Given the description of an element on the screen output the (x, y) to click on. 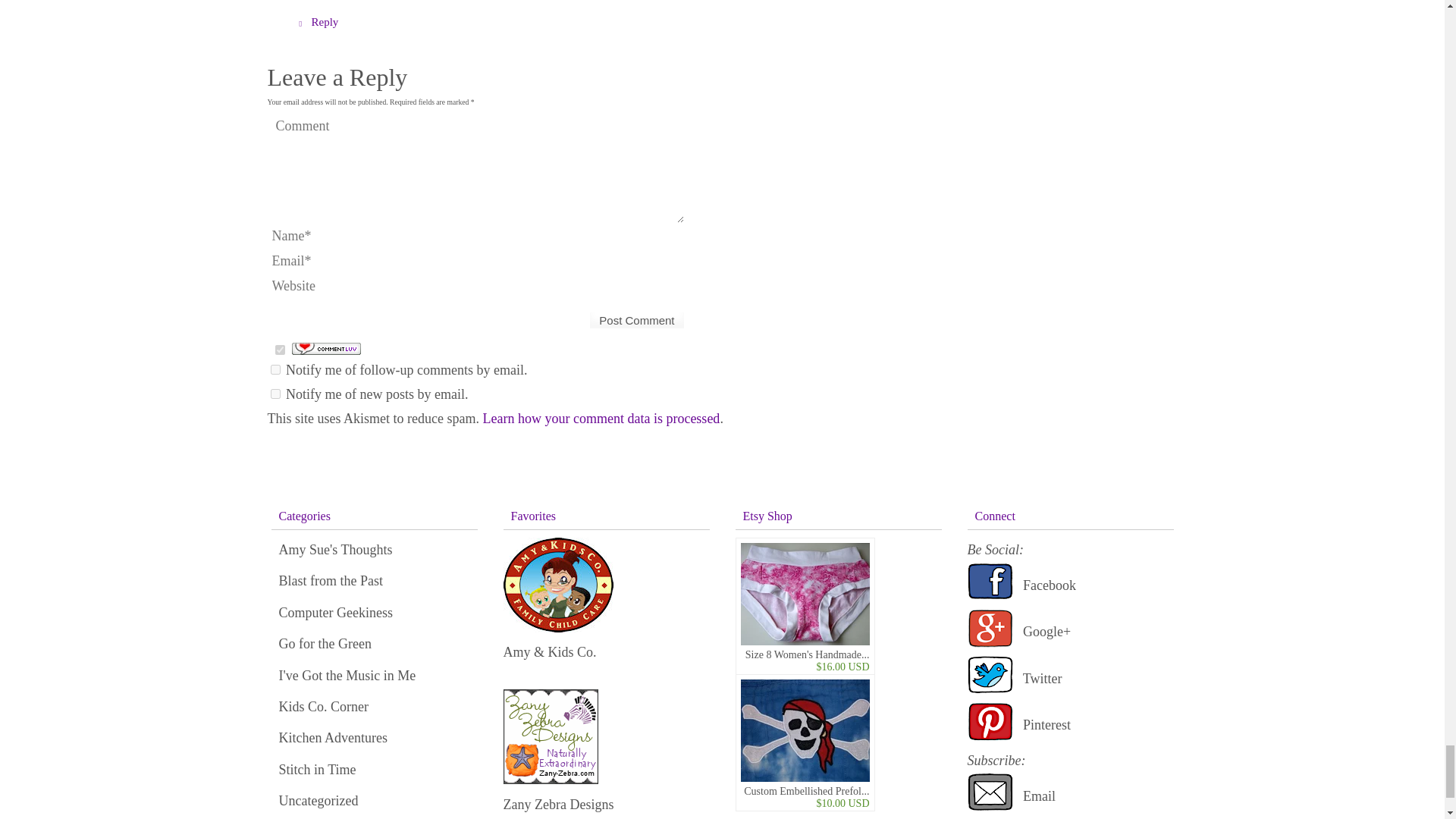
subscribe (274, 393)
subscribe (274, 369)
on (278, 349)
Post Comment (636, 320)
